Given the description of an element on the screen output the (x, y) to click on. 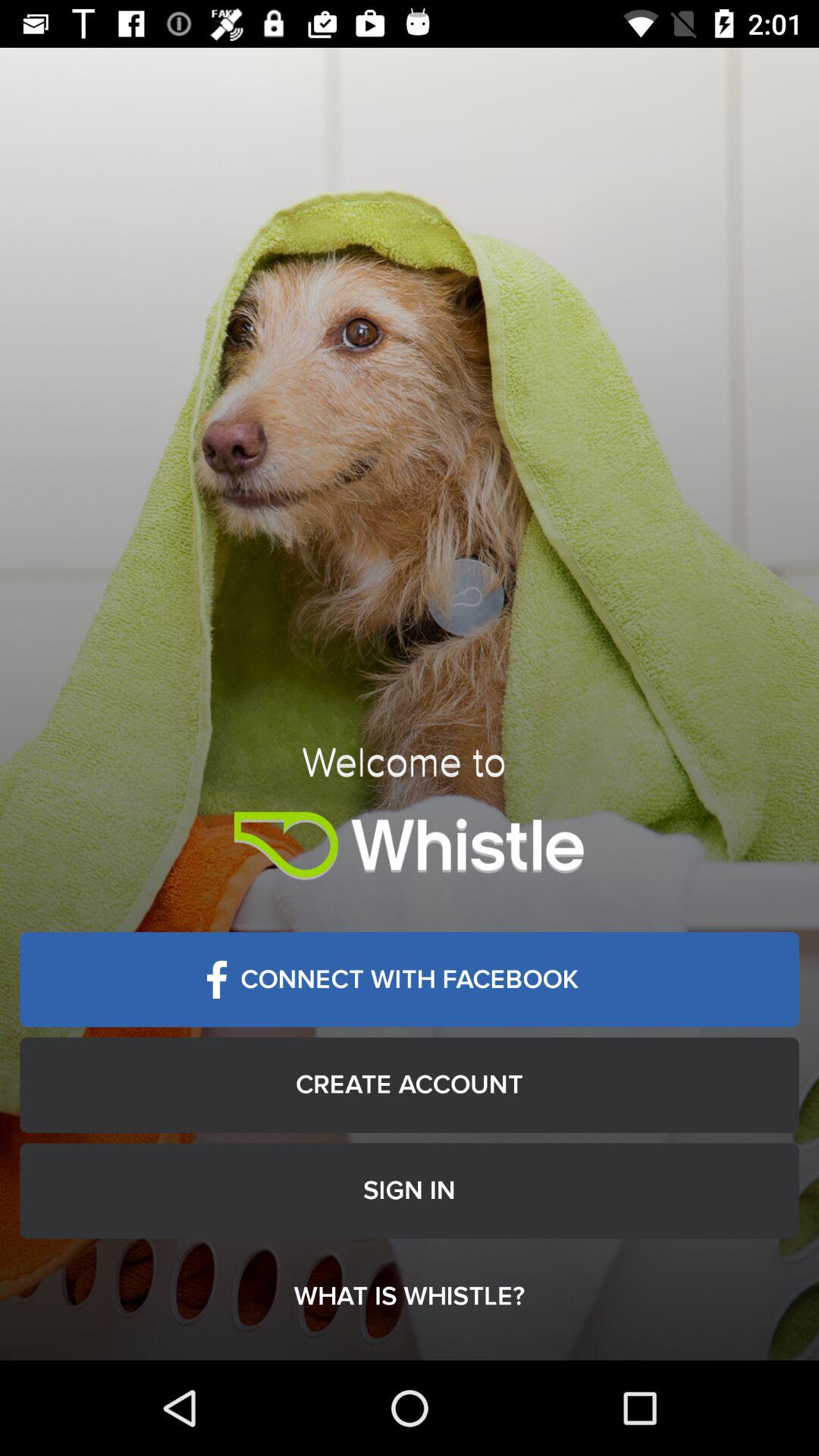
turn off what is whistle? icon (409, 1296)
